Given the description of an element on the screen output the (x, y) to click on. 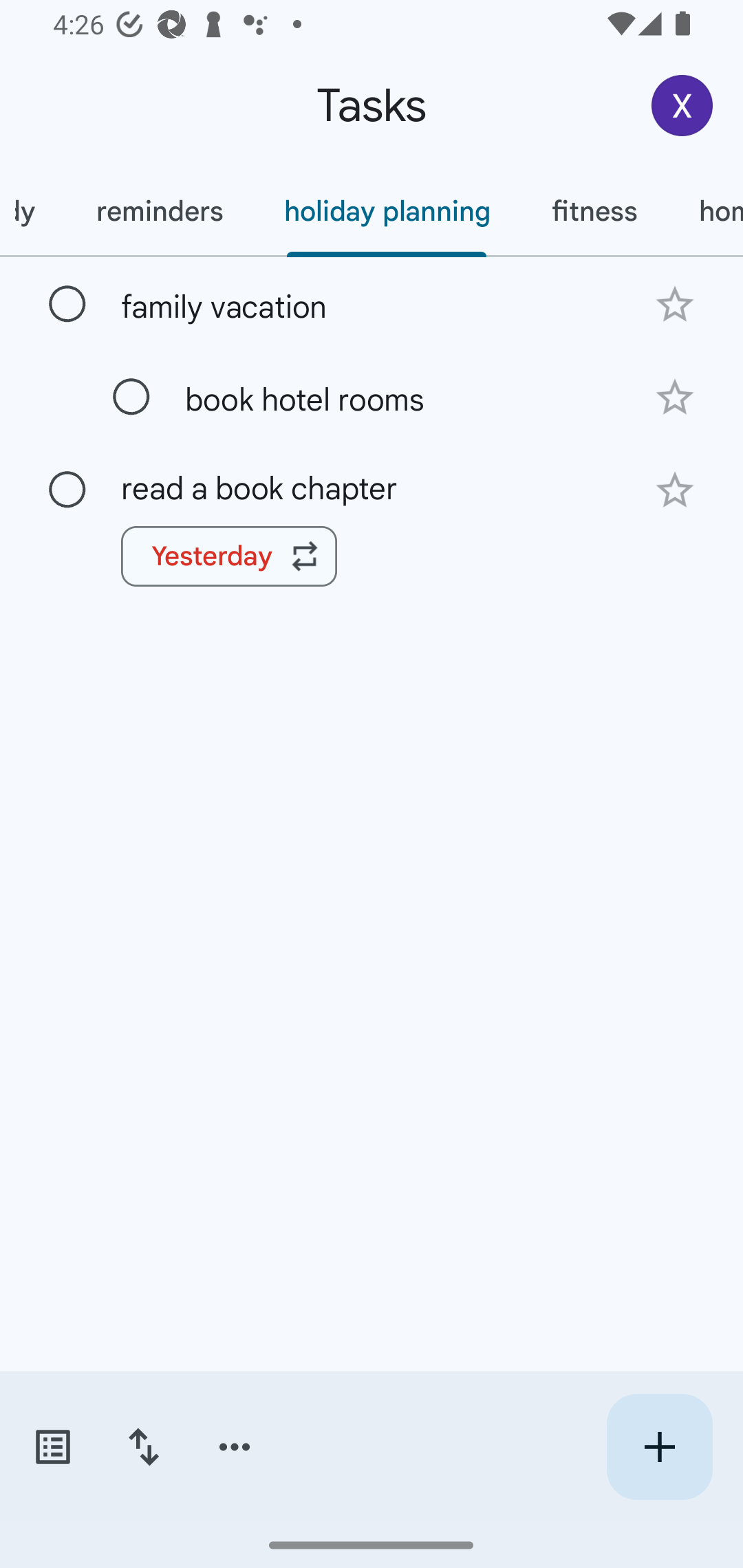
reminders (159, 211)
fitness (593, 211)
Add star (674, 303)
Mark as complete (67, 304)
Add star (674, 397)
Mark as complete (131, 397)
Add star (674, 490)
Mark as complete (67, 489)
Yesterday (229, 556)
Switch task lists (52, 1447)
Create new task (659, 1446)
Change sort order (143, 1446)
More options (234, 1446)
